Given the description of an element on the screen output the (x, y) to click on. 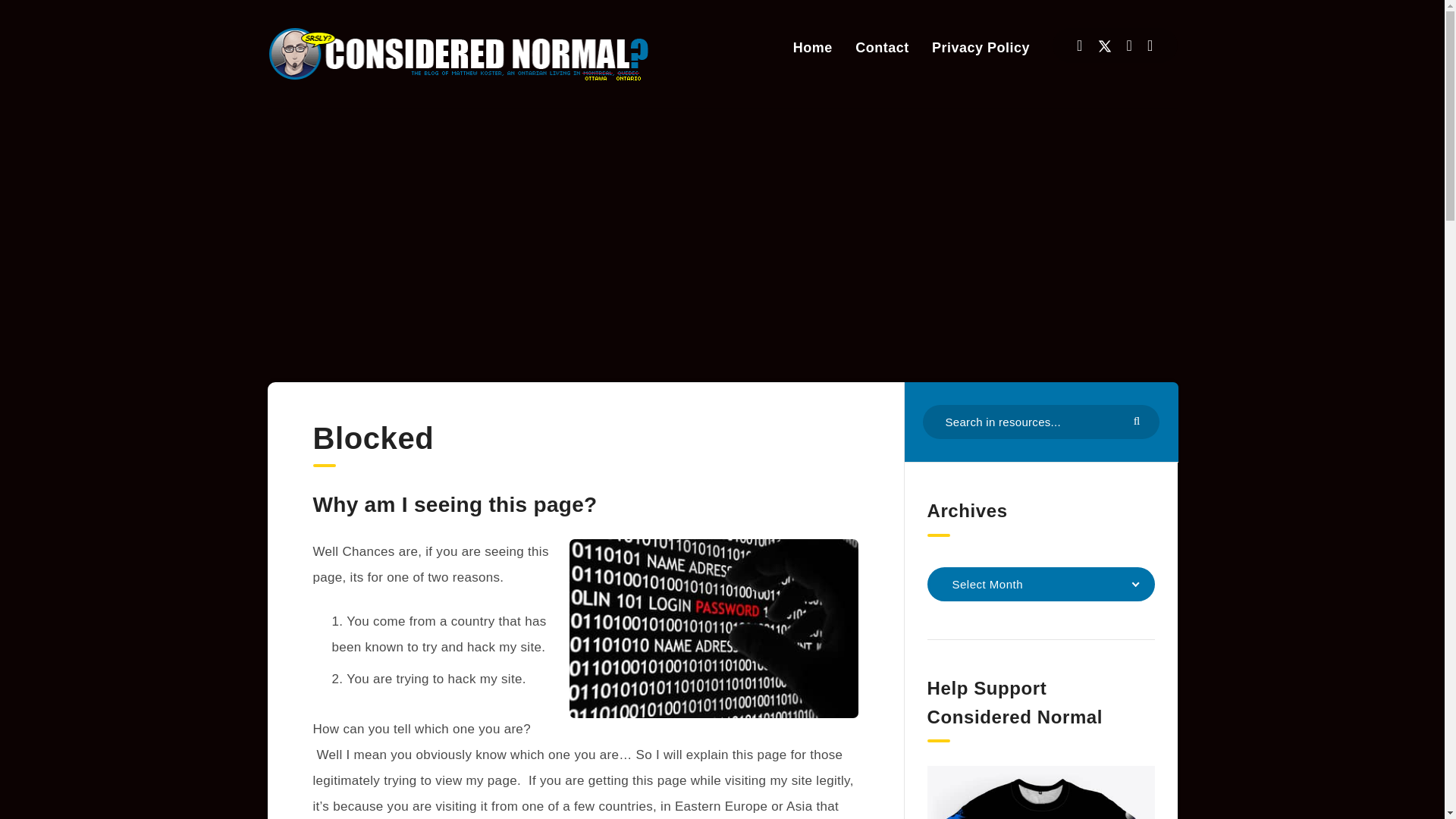
Home (812, 47)
Privacy Policy (980, 47)
Contact (882, 47)
